Given the description of an element on the screen output the (x, y) to click on. 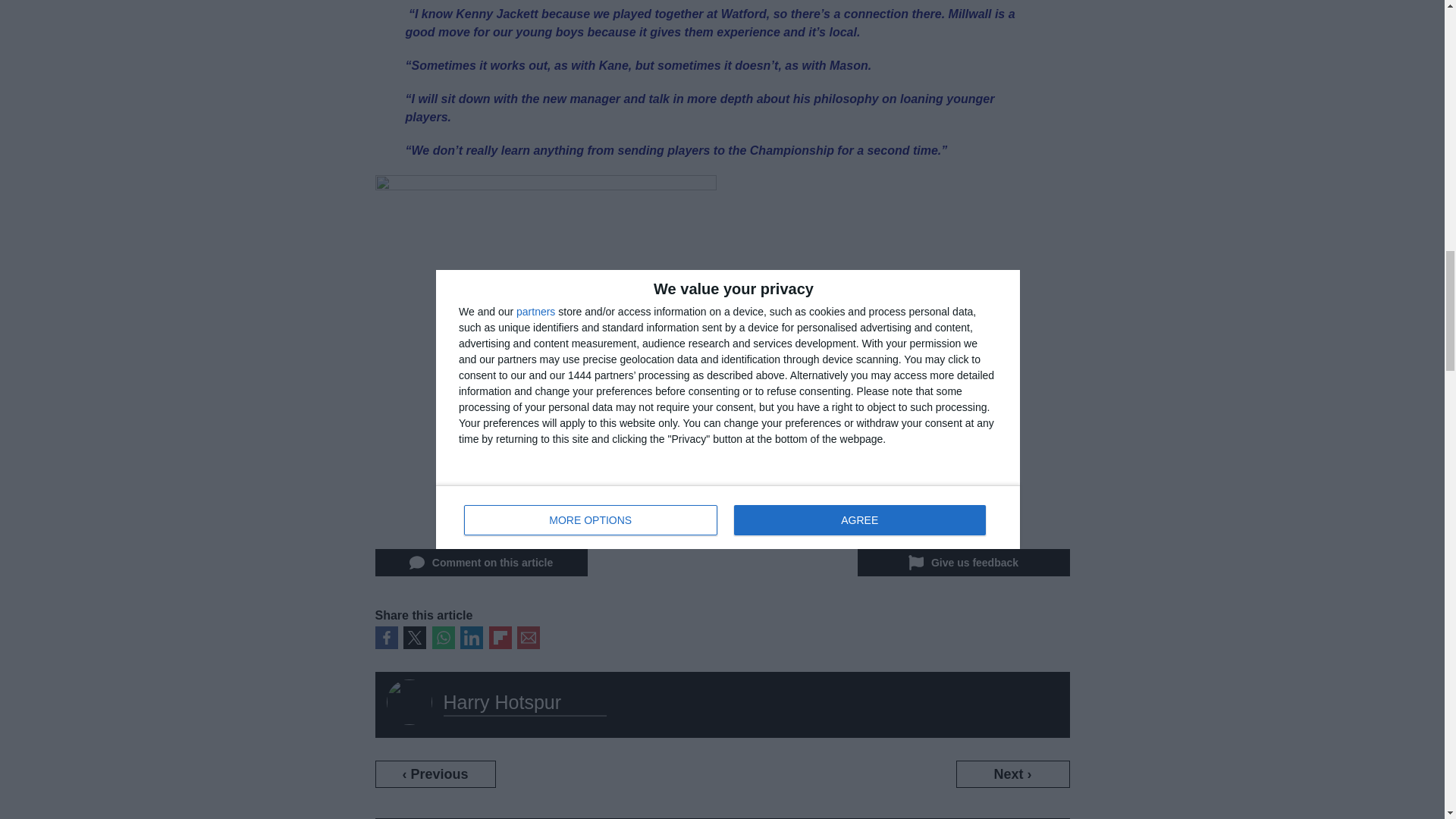
Comment on this article (480, 562)
share on Twitter (414, 637)
Give us feedback (962, 562)
share on Facebook (385, 637)
SD921m (545, 349)
share on WhatsApp (443, 637)
